Given the description of an element on the screen output the (x, y) to click on. 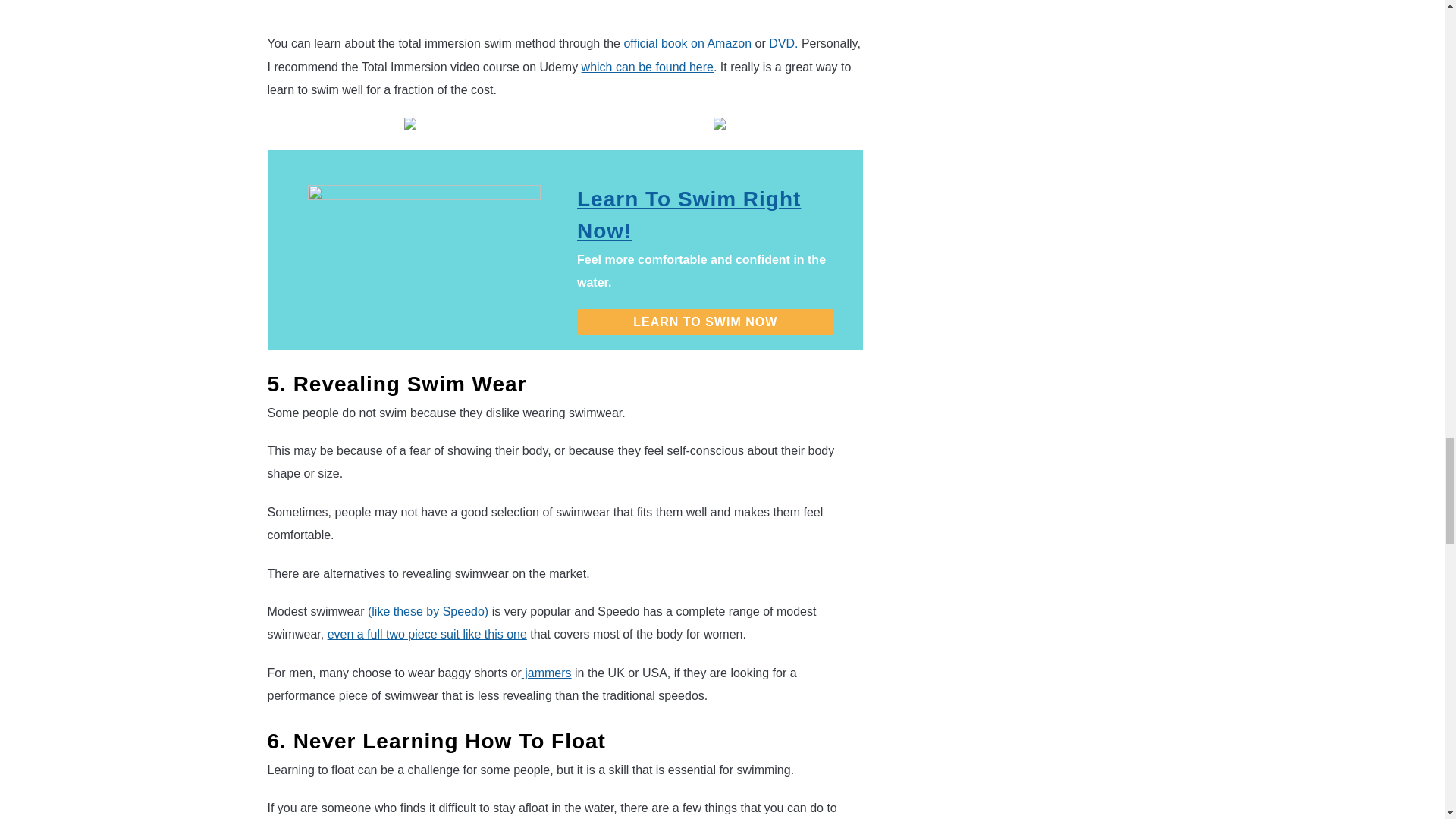
official book on Amazon (687, 42)
which can be found here (646, 66)
DVD. (782, 42)
The Most Graceful Freestyle Swimming by Shinji Takeuchi (509, 7)
